Given the description of an element on the screen output the (x, y) to click on. 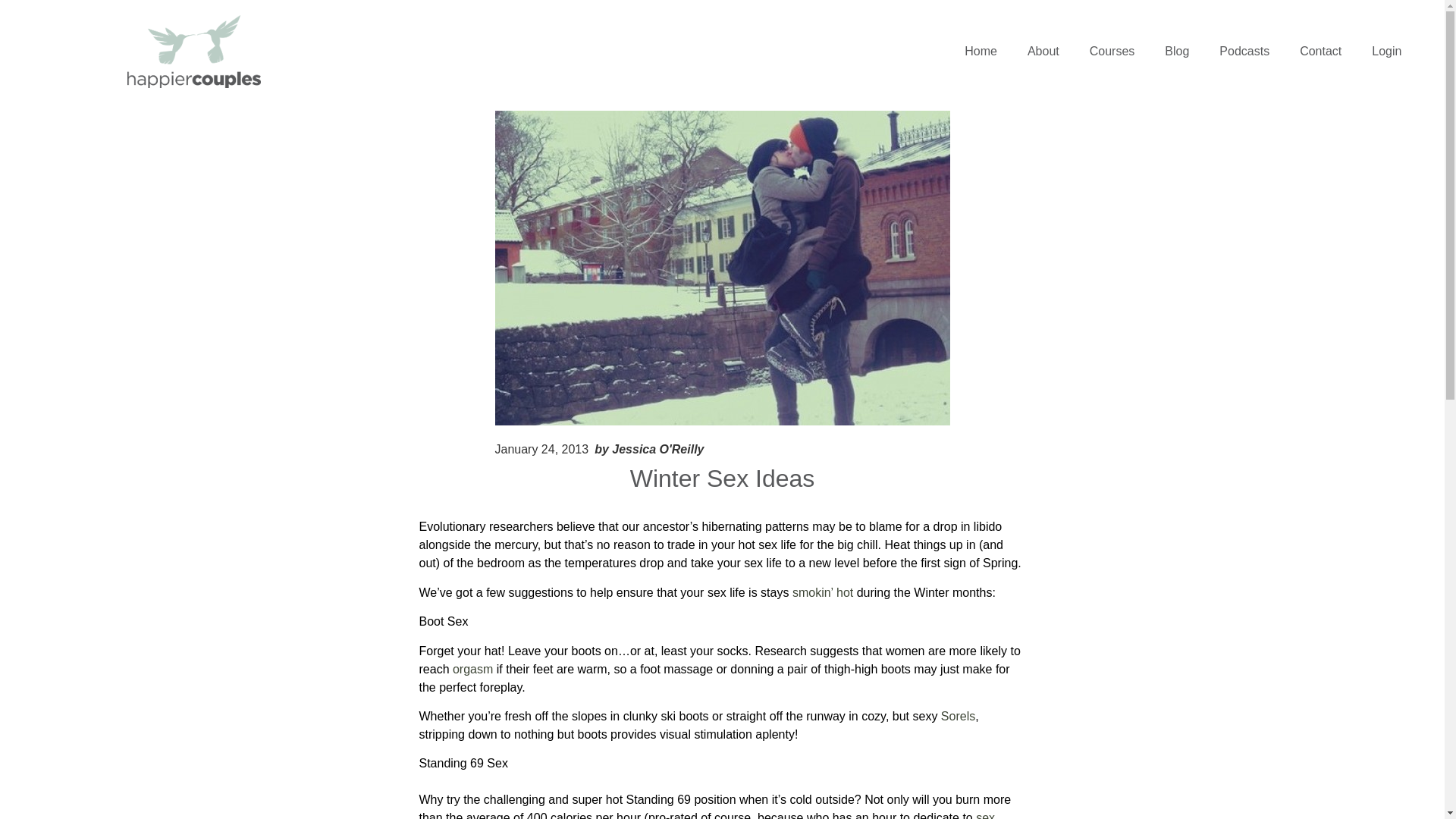
Home (980, 51)
Courses (1112, 51)
Contact (1320, 51)
About (1042, 51)
Sorels (957, 716)
Podcasts (1244, 51)
Blog (1177, 51)
sex (984, 815)
orgasm (472, 668)
Login (1386, 51)
